Given the description of an element on the screen output the (x, y) to click on. 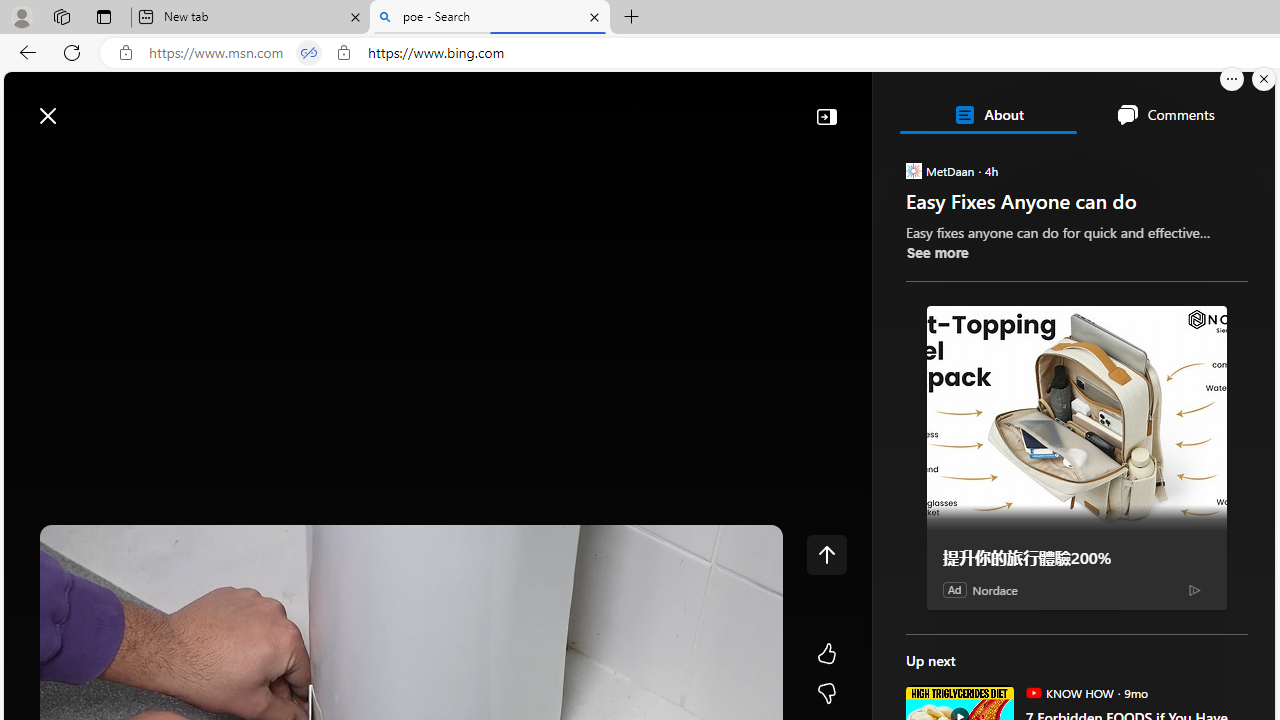
MetDaan (912, 170)
Comments (1165, 114)
Enter your search term (644, 106)
Personalize (1195, 162)
